Given the description of an element on the screen output the (x, y) to click on. 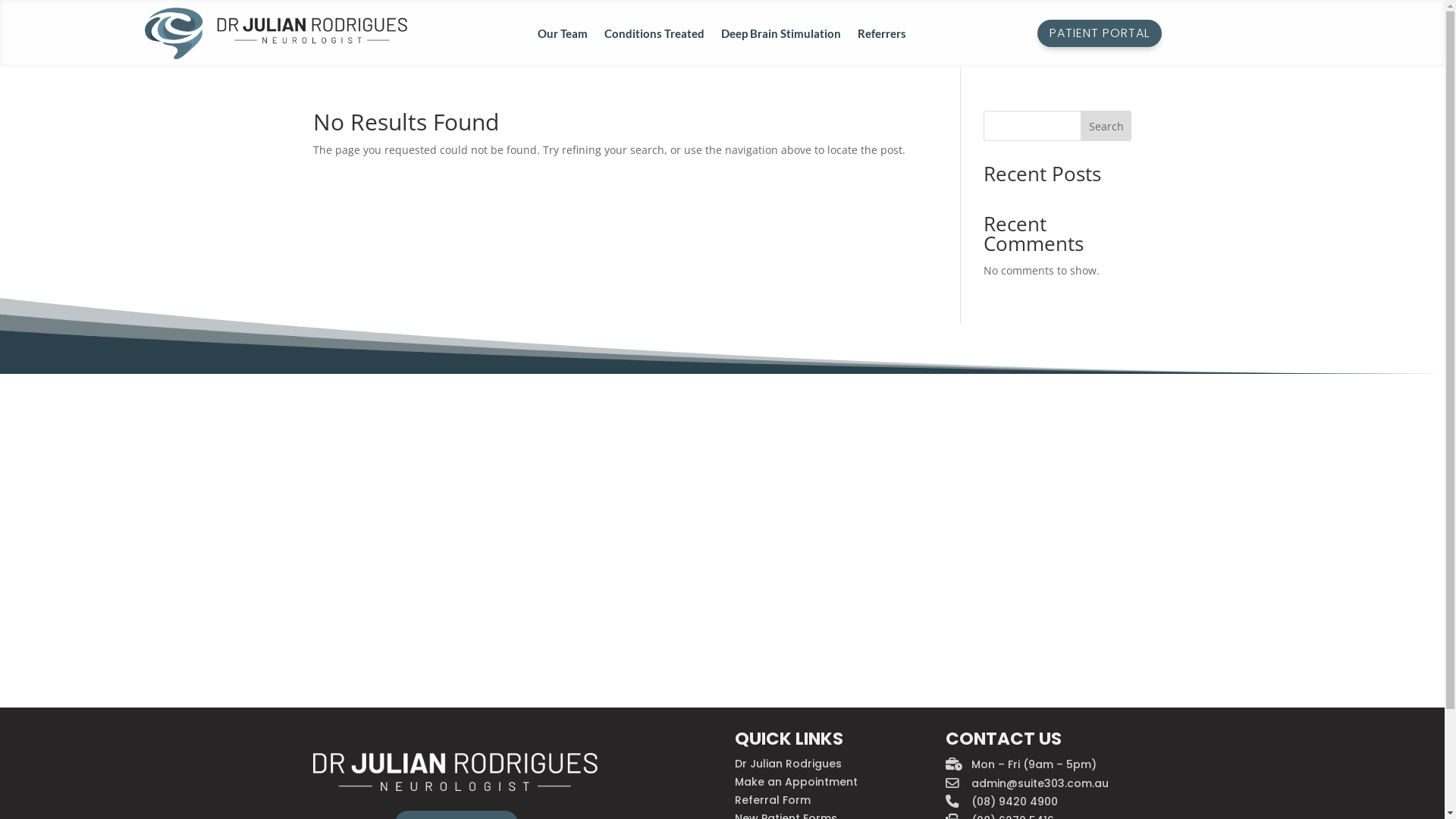
Referrers Element type: text (881, 36)
Dr Julian Rodrigues Element type: text (787, 763)
PATIENT PORTAL Element type: text (1099, 33)
Search Element type: text (1106, 125)
Make an Appointment Element type: text (795, 781)
Conditions Treated Element type: text (654, 36)
admin@suite303.com.au Element type: text (1039, 782)
Our Team Element type: text (562, 36)
Deep Brain Stimulation Element type: text (780, 36)
Referral Form Element type: text (772, 799)
(08) 9420 4900 Element type: text (1014, 801)
Julian Rodrigues Horizontal-white-WEB-removed-Image Element type: hover (454, 771)
Julian Rodrigues Horizontal-WEB Element type: hover (275, 33)
